Given the description of an element on the screen output the (x, y) to click on. 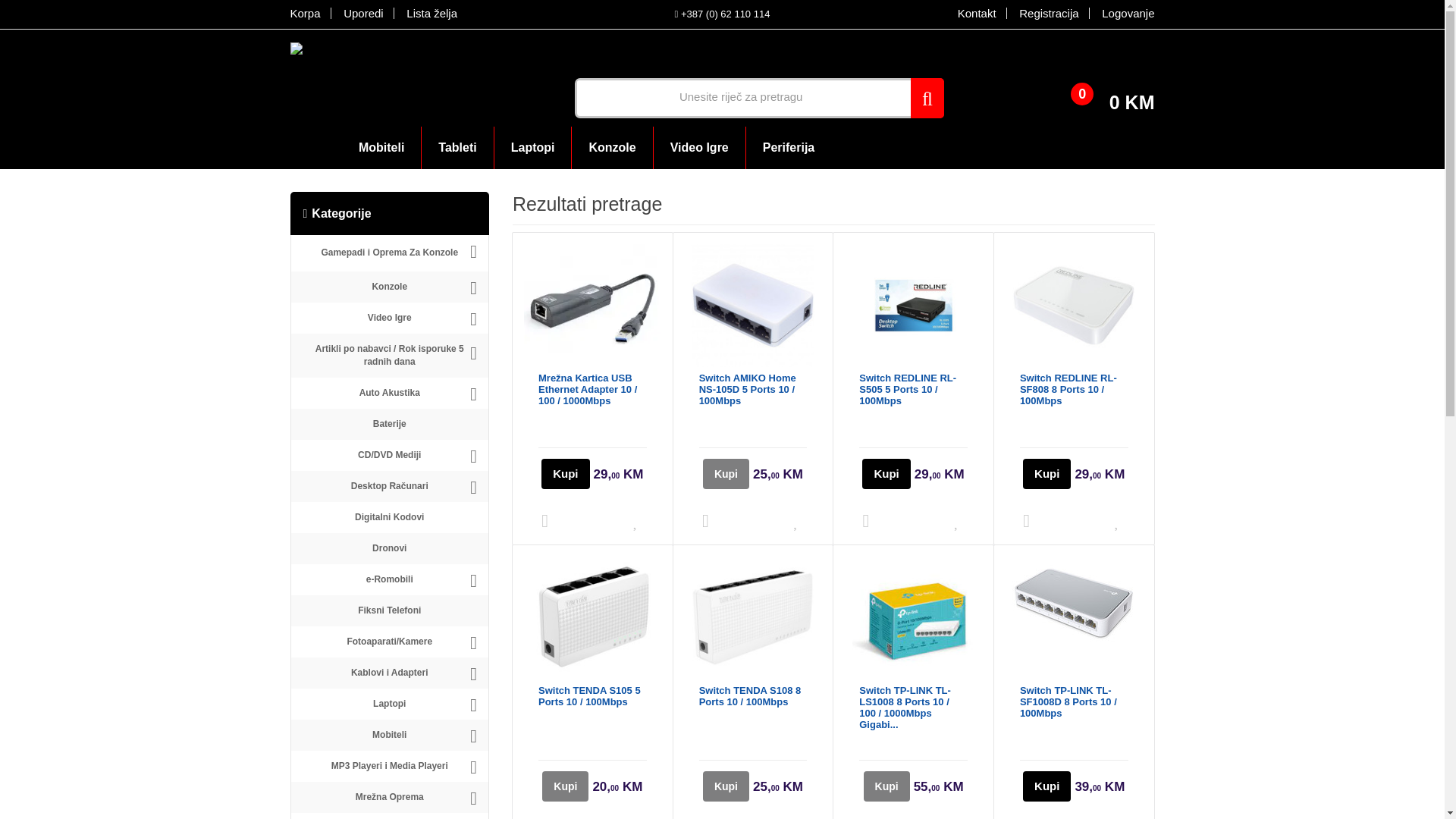
Registracija Element type: text (1048, 12)
Mobiteli Element type: text (381, 148)
Periferija Element type: text (788, 148)
Switch AMIKO Home NS-105D 5 Ports 10 / 100Mbps Element type: text (753, 389)
Switch REDLINE RL-S505 5 Ports 10 / 100Mbps Element type: text (913, 389)
Digitalni Kodovi Element type: text (389, 517)
Dronovi Element type: text (389, 548)
0
0 KM Element type: text (1128, 85)
MP3 Playeri i Media Playeri Element type: text (389, 765)
Switch TENDA S108 8 Ports 10 / 100Mbps Element type: text (753, 695)
Switch REDLINE RL-SF808 8 Ports 10 / 100Mbps Element type: text (1073, 389)
Konzole Element type: text (611, 148)
Mobiteli Element type: text (389, 734)
Auto Akustika Element type: text (389, 392)
Logovanje Element type: text (1123, 12)
Video Igre Element type: text (699, 148)
e-Romobili Element type: text (389, 579)
Video Igre Element type: text (389, 317)
Fiksni Telefoni Element type: text (389, 610)
Konzole Element type: text (389, 286)
Korpa Element type: text (309, 12)
Laptopi Element type: text (389, 703)
Kablovi i Adapteri Element type: text (389, 672)
Baterije Element type: text (389, 423)
Switch TENDA S105 5 Ports 10 / 100Mbps Element type: text (592, 695)
Laptopi Element type: text (532, 148)
Tableti Element type: text (456, 148)
Kontakt Element type: text (977, 12)
Uporedi Element type: text (363, 12)
Artikli po nabavci / Rok isporuke 5 radnih dana Element type: text (389, 355)
Fotoaparati/Kamere Element type: text (389, 641)
CD/DVD Mediji Element type: text (389, 454)
Switch TP-LINK TL-SF1008D 8 Ports 10 / 100Mbps Element type: text (1073, 701)
Gamepadi i Oprema Za Konzole Element type: text (389, 252)
